Given the description of an element on the screen output the (x, y) to click on. 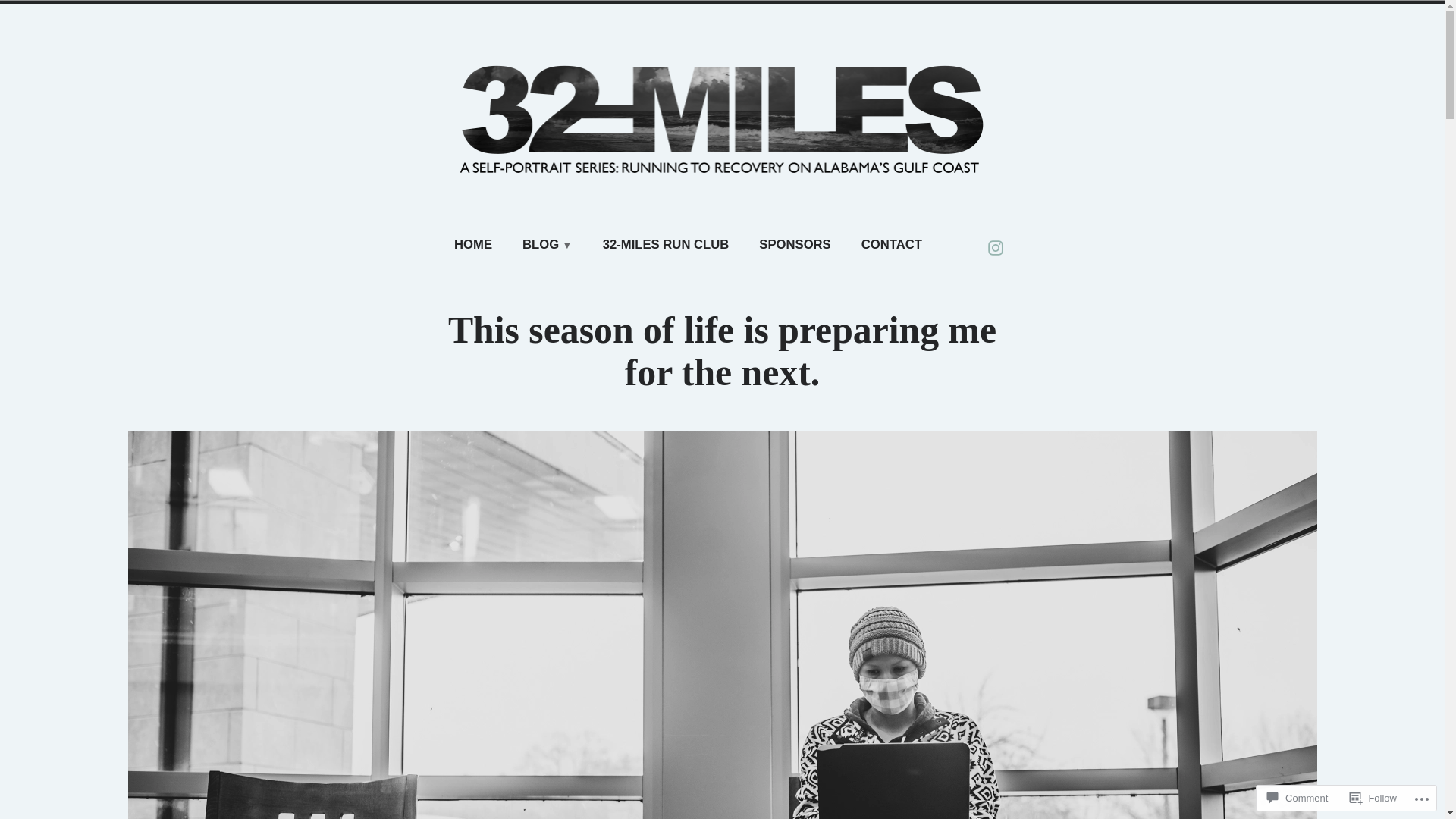
HOME Element type: text (473, 245)
Follow Element type: text (1372, 797)
BLOG Element type: text (547, 245)
CONTACT Element type: text (891, 245)
32-MILES RUN CLUB Element type: text (665, 245)
32-MILES Element type: text (155, 228)
Comment Element type: text (1297, 797)
SPONSORS Element type: text (794, 245)
